Given the description of an element on the screen output the (x, y) to click on. 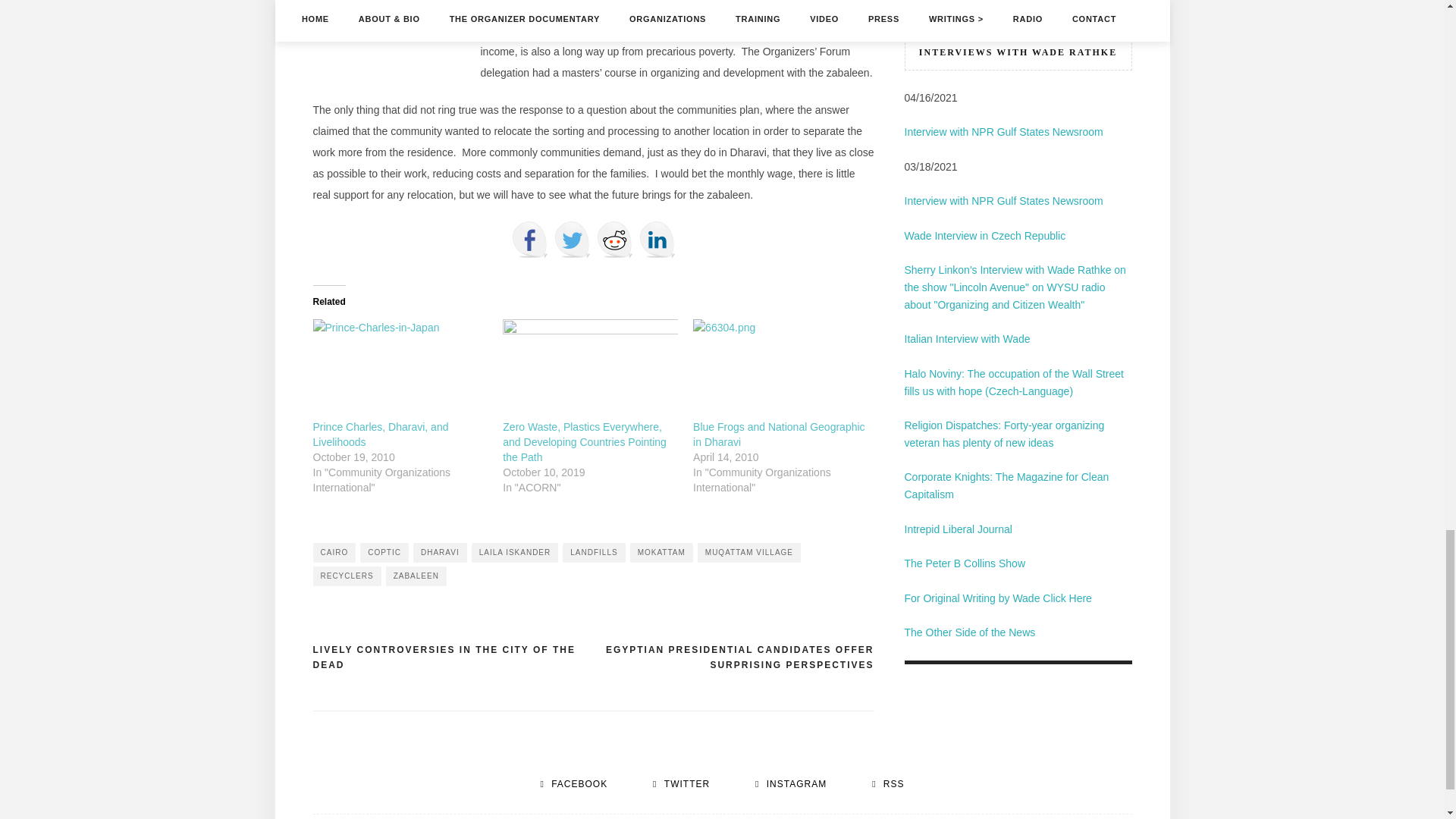
MOKATTAM (661, 552)
CAIRO (334, 552)
Share on Twitter (571, 239)
MUQATTAM VILLAGE (748, 552)
COPTIC (384, 552)
LANDFILLS (593, 552)
Prince Charles, Dharavi, and Livelihoods (380, 433)
DHARAVI (440, 552)
LAILA ISKANDER (515, 552)
